Given the description of an element on the screen output the (x, y) to click on. 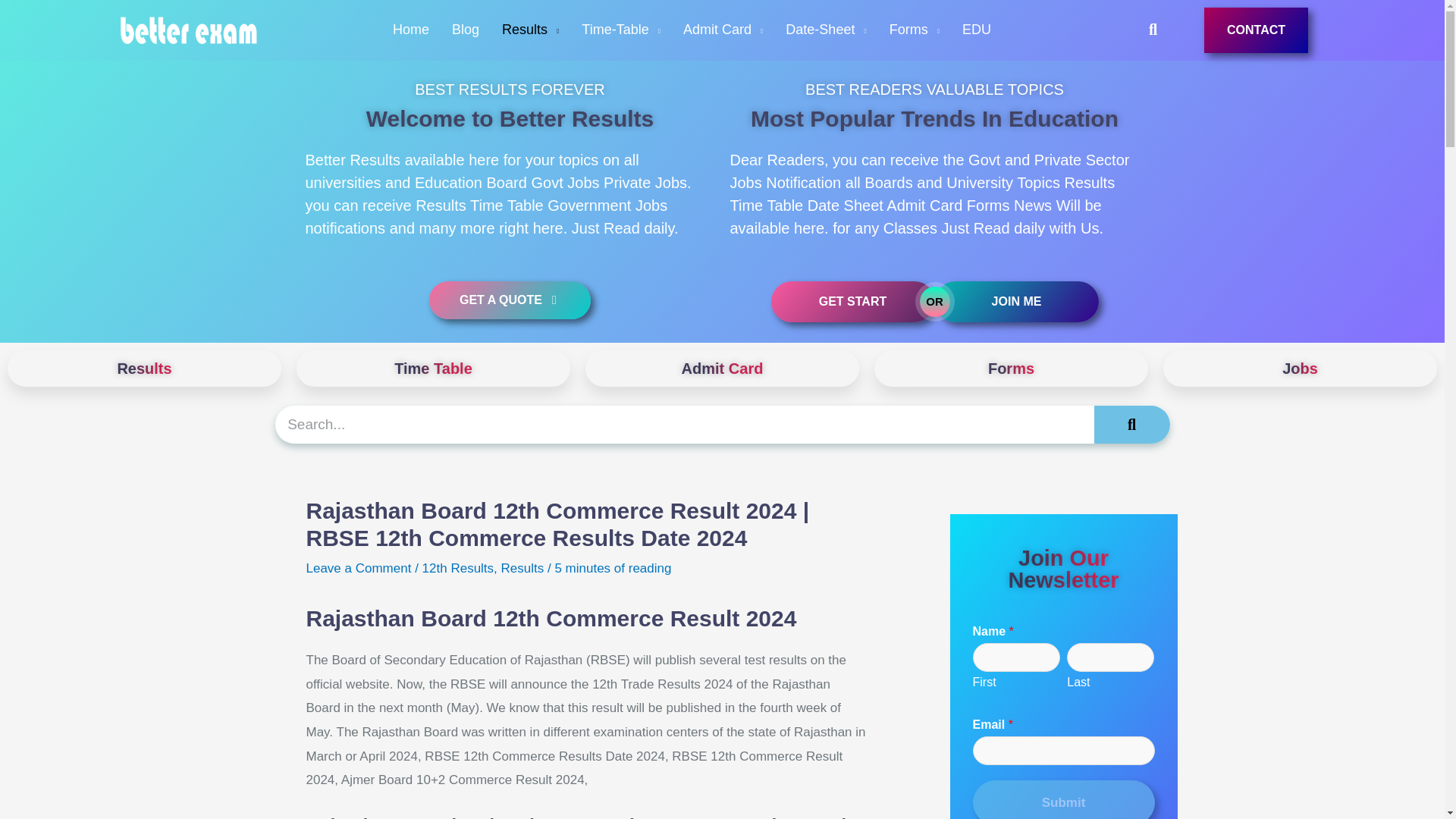
Time-Table (620, 30)
Results (530, 30)
Home (411, 30)
